Given the description of an element on the screen output the (x, y) to click on. 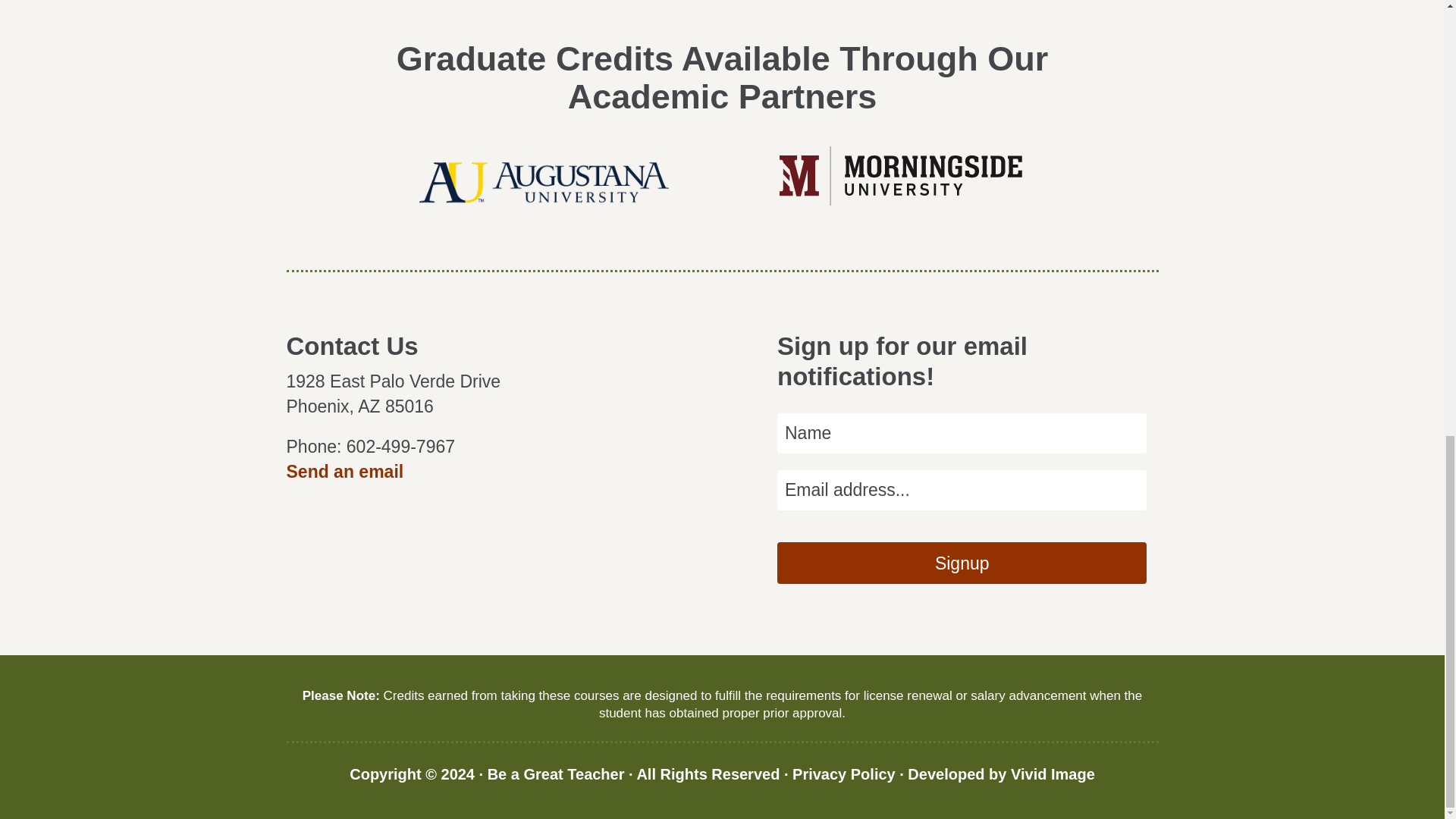
Signup (962, 562)
Signup (962, 562)
602-499-7967 (400, 446)
Privacy Policy (843, 773)
Send an email (345, 471)
Vivid Image (1052, 773)
